Given the description of an element on the screen output the (x, y) to click on. 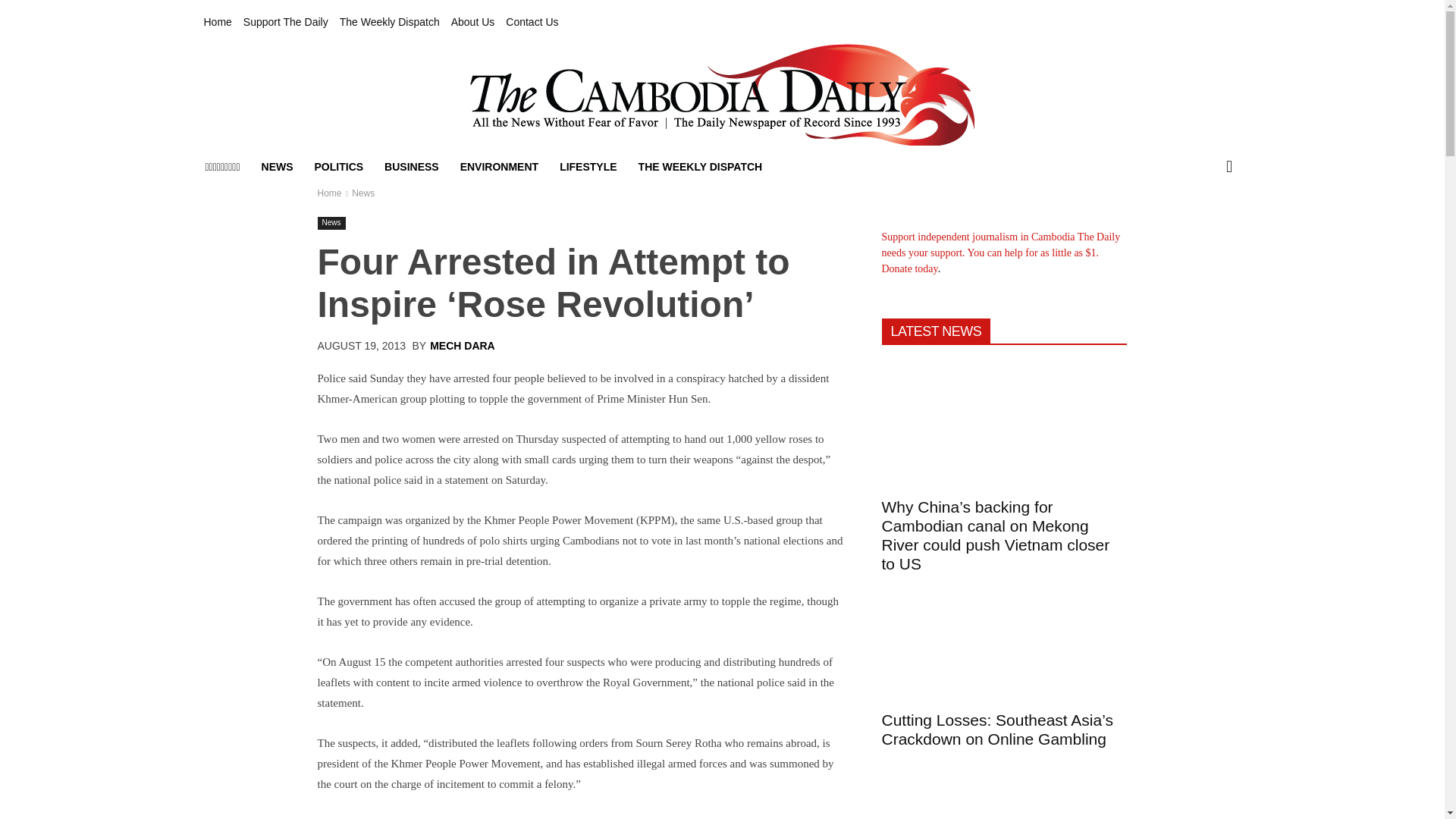
Contact Us (531, 21)
LIFESTYLE (587, 166)
THE WEEKLY DISPATCH (700, 166)
News (331, 223)
MECH DARA (462, 345)
Home (328, 193)
POLITICS (339, 166)
View all posts in News (363, 193)
NEWS (277, 166)
The Weekly Dispatch (389, 21)
BUSINESS (411, 166)
About Us (473, 21)
All the news without fear or favor (722, 94)
Support The Daily (286, 21)
Home (217, 21)
